Given the description of an element on the screen output the (x, y) to click on. 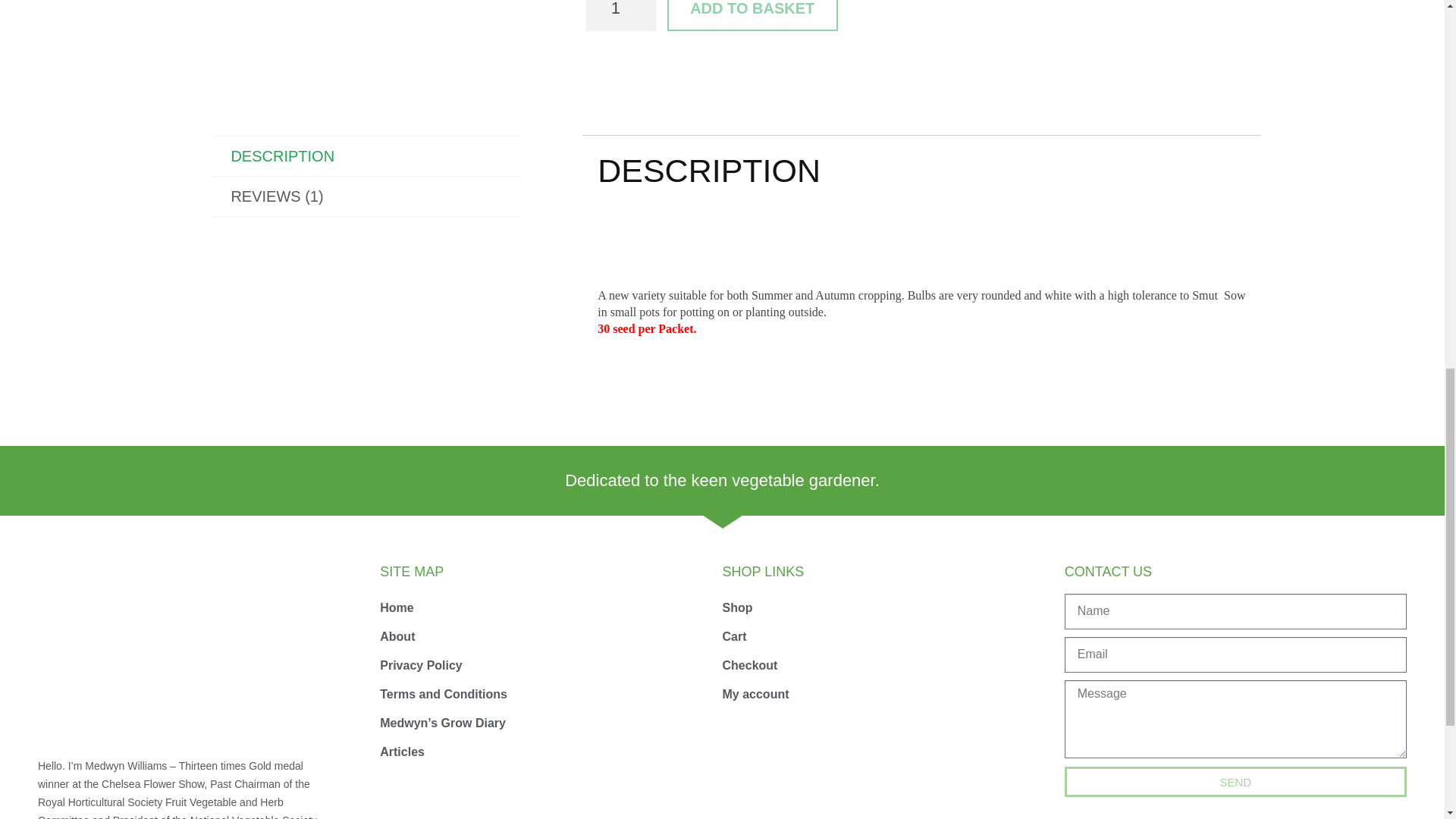
1 (621, 15)
